Given the description of an element on the screen output the (x, y) to click on. 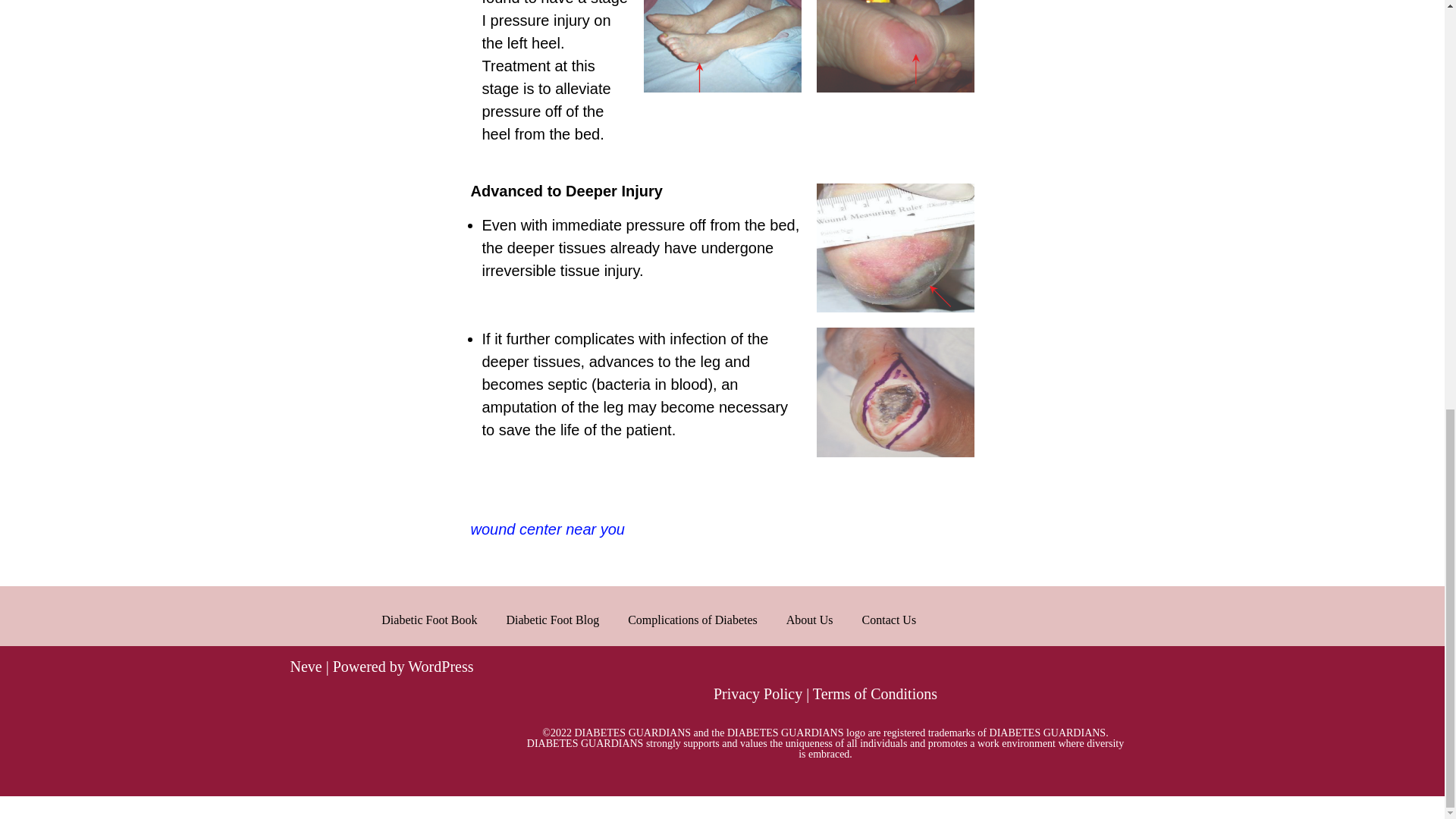
Diabetic Foot Book (429, 619)
About Us (809, 619)
Neve (305, 666)
Complications of Diabetes (692, 619)
wound center near you (547, 528)
WordPress (440, 666)
Contact Us (889, 619)
Diabetic Foot Blog (552, 619)
